Given the description of an element on the screen output the (x, y) to click on. 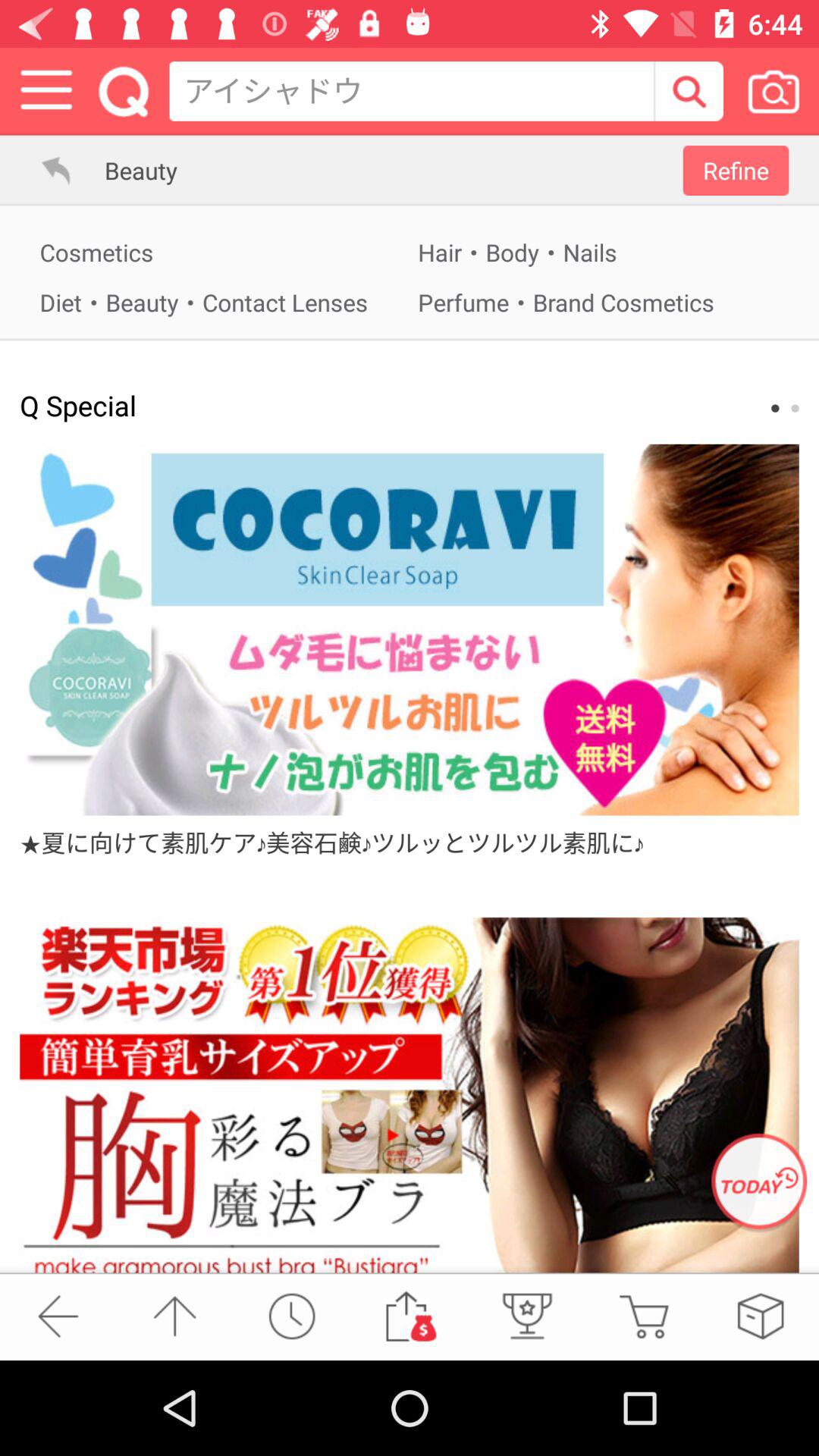
menu button (46, 91)
